Given the description of an element on the screen output the (x, y) to click on. 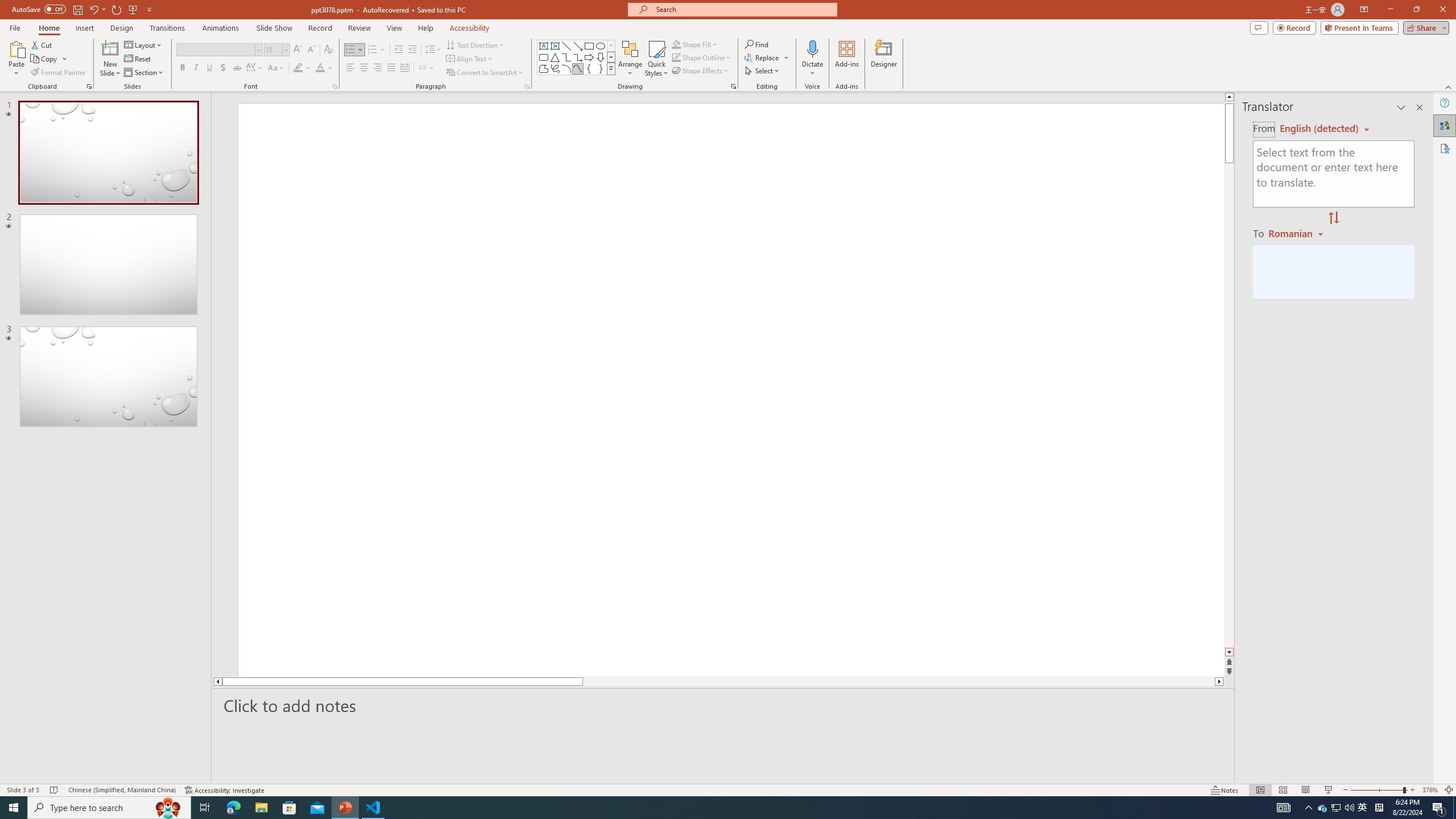
Curve (577, 68)
Vertical Text Box (554, 45)
Font Size (273, 49)
Shape Outline Green, Accent 1 (675, 56)
Bold (182, 67)
Task Pane Options (1400, 107)
Line up (1229, 96)
Italic (195, 67)
Character Spacing (254, 67)
Underline (209, 67)
